Given the description of an element on the screen output the (x, y) to click on. 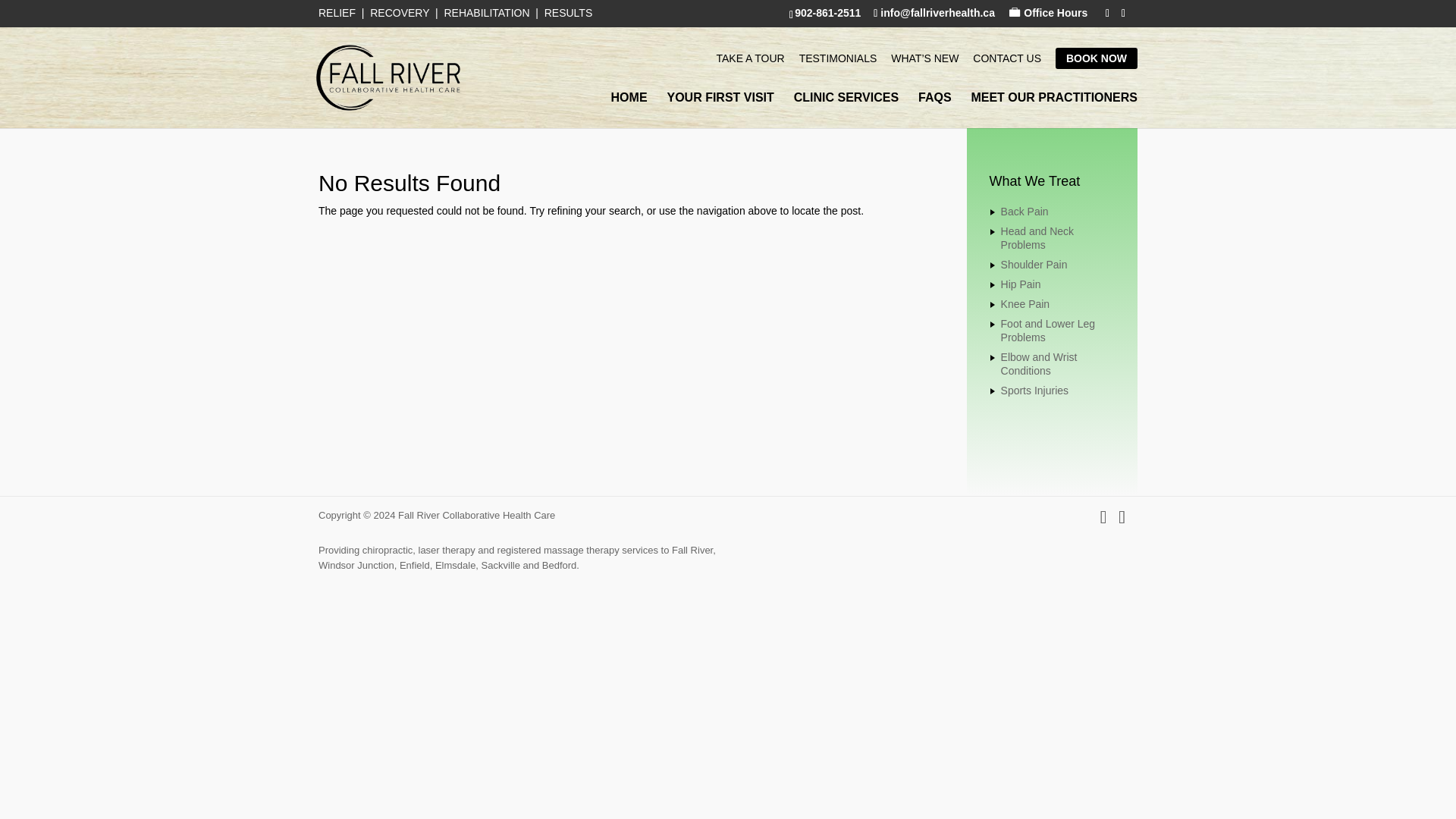
FAQS (935, 109)
TAKE A TOUR (750, 58)
MEET OUR PRACTITIONERS (1054, 109)
HOME (629, 109)
CONTACT US (1006, 58)
YOUR FIRST VISIT (719, 109)
TESTIMONIALS (838, 58)
CLINIC SERVICES (845, 109)
BOOK NOW (1096, 57)
     Office Hours   (1045, 12)
Back Pain (1024, 211)
